Given the description of an element on the screen output the (x, y) to click on. 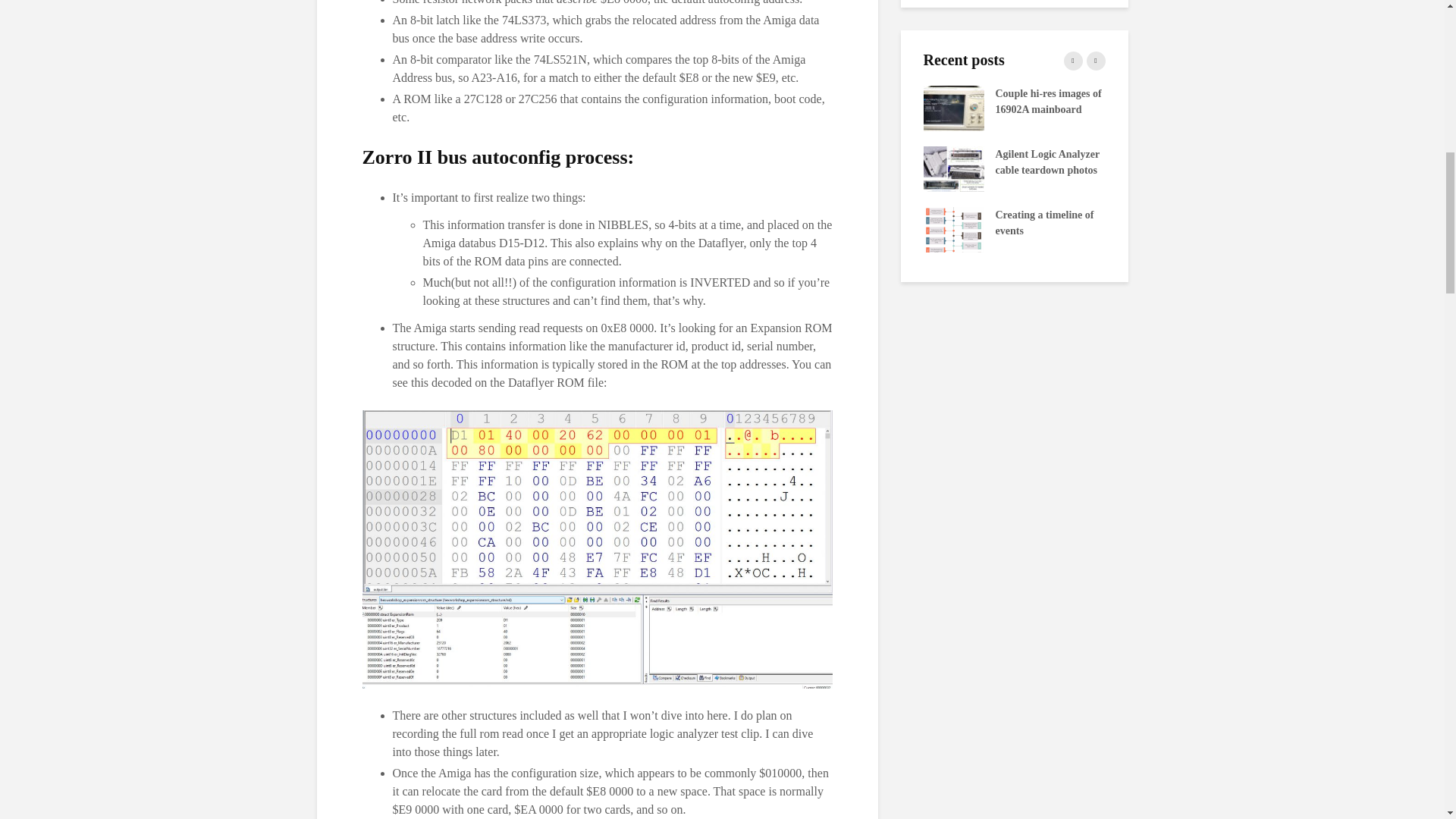
Creating a timeline of events (953, 228)
Identify PAL inputs and outputs (589, 107)
Identify PAL inputs and outputs (1135, 107)
New Reverse Engineering PALs page (771, 107)
Understand the system (589, 167)
New Reverse Engineering PALs page (1317, 107)
Agilent Logic Analyzer cable teardown photos (953, 167)
My PAL stimulator (771, 167)
Understand the system (1135, 167)
Couple hi-res images of 16902A mainboard (953, 107)
